Given the description of an element on the screen output the (x, y) to click on. 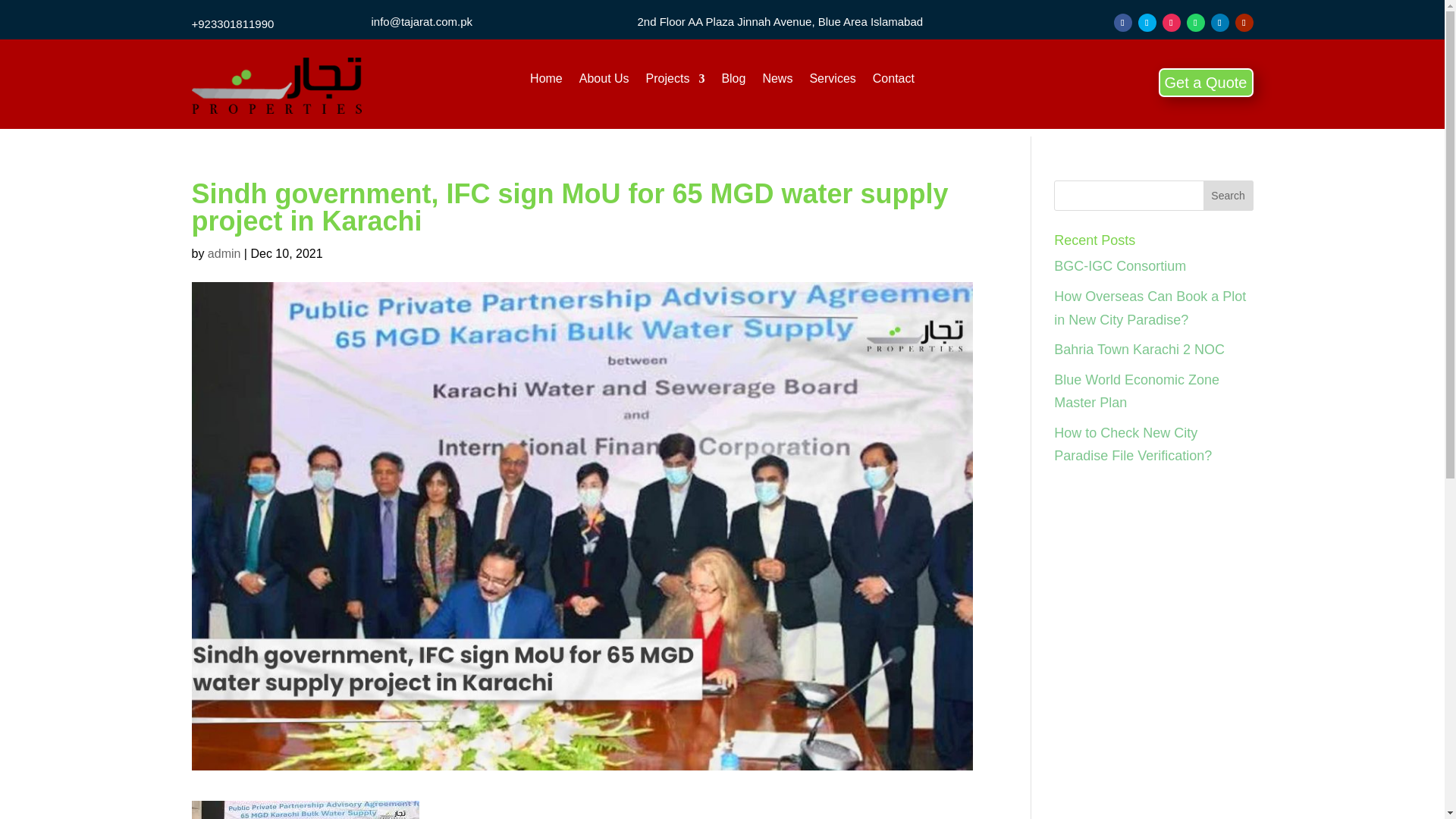
tajarat-logo (275, 85)
Home (545, 81)
Follow on LinkedIn (1218, 22)
Services (832, 81)
Search (1228, 195)
News (776, 81)
About Us (603, 81)
Contact (893, 81)
Blog (732, 81)
Follow on Facebook (1122, 22)
